Given the description of an element on the screen output the (x, y) to click on. 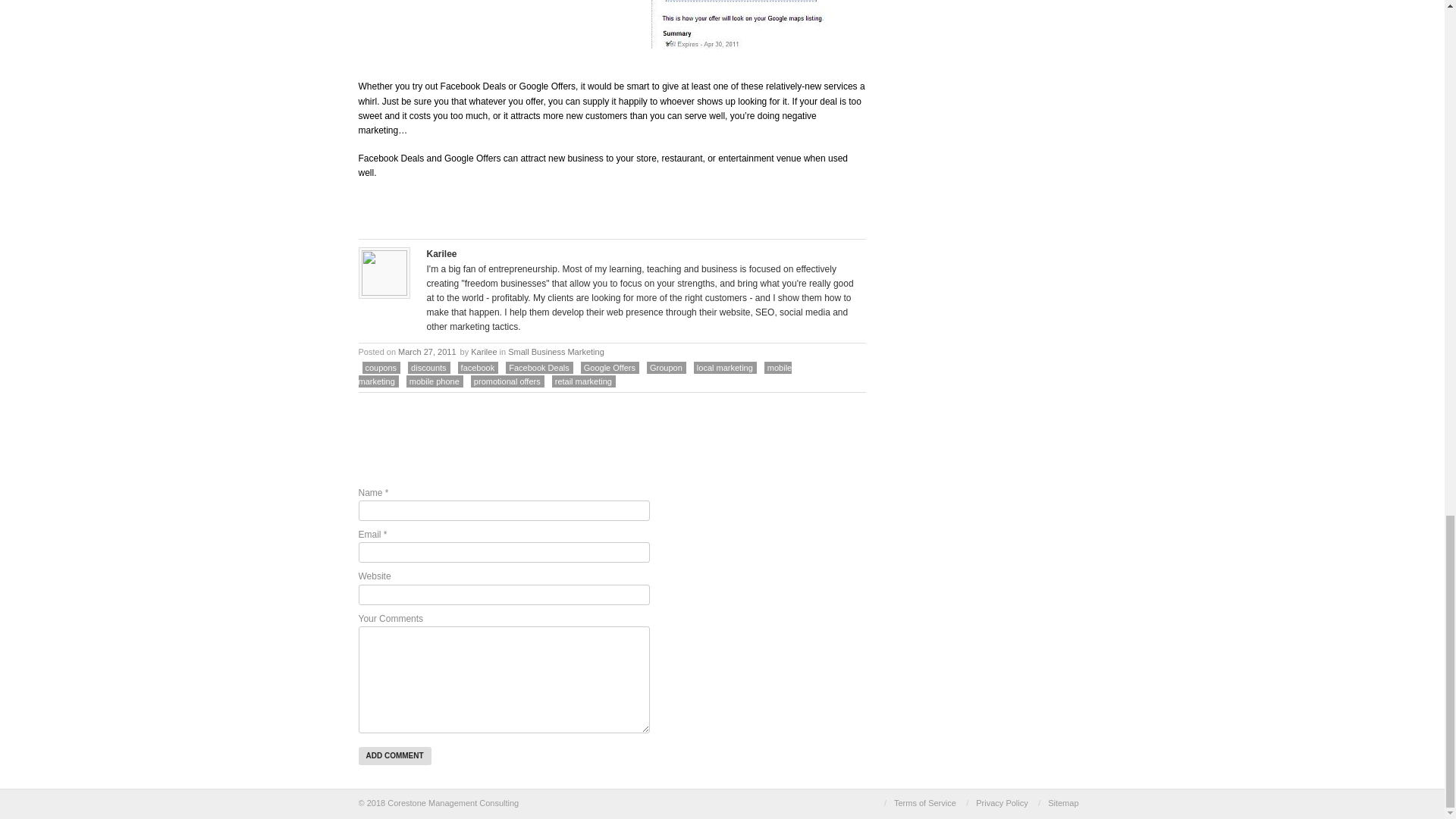
ADD COMMENT (394, 755)
View all posts by Karilee (483, 351)
Google Offers (612, 24)
7:13 pm (427, 351)
